Given the description of an element on the screen output the (x, y) to click on. 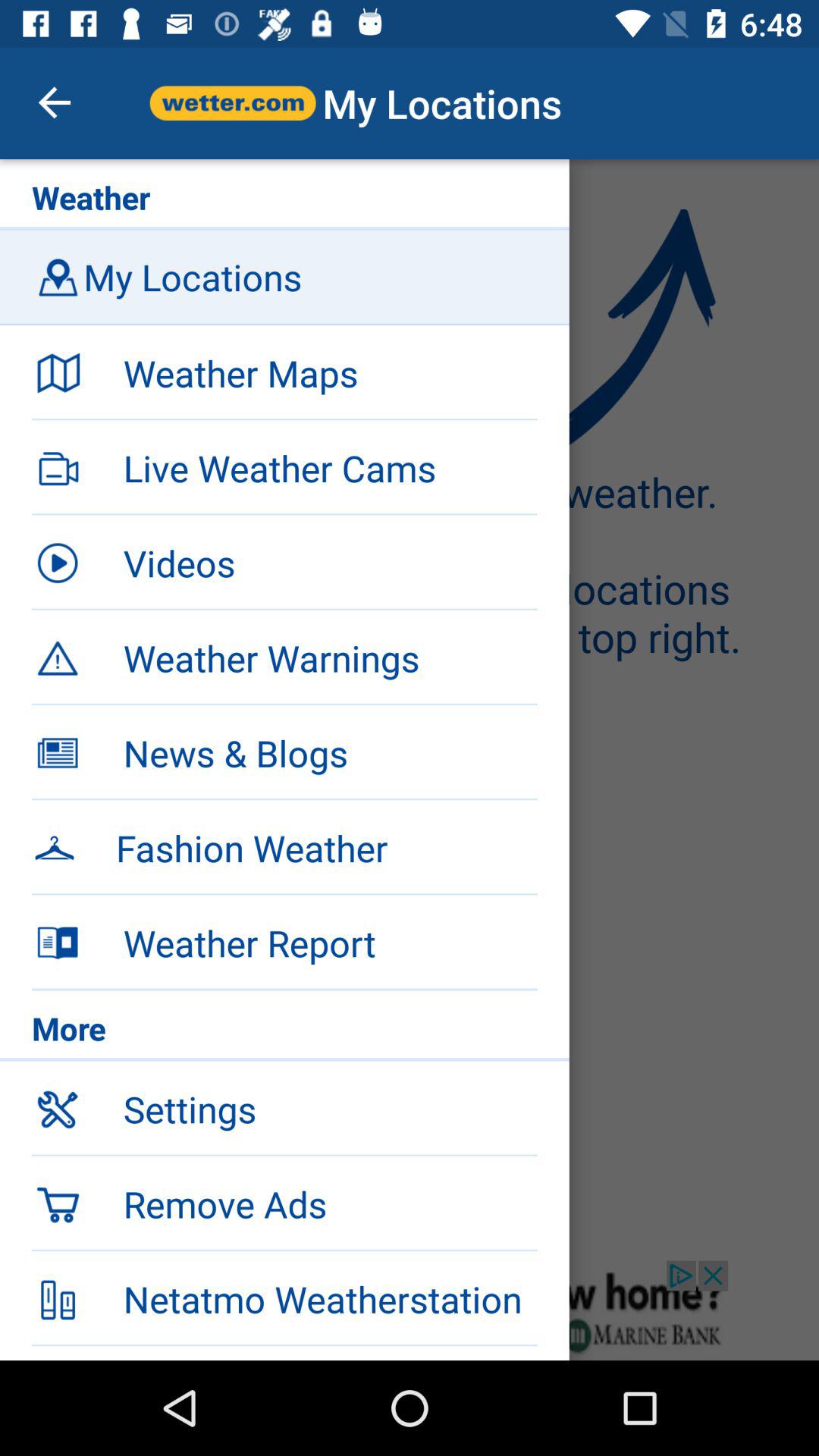
display advertisement site (409, 1310)
